Given the description of an element on the screen output the (x, y) to click on. 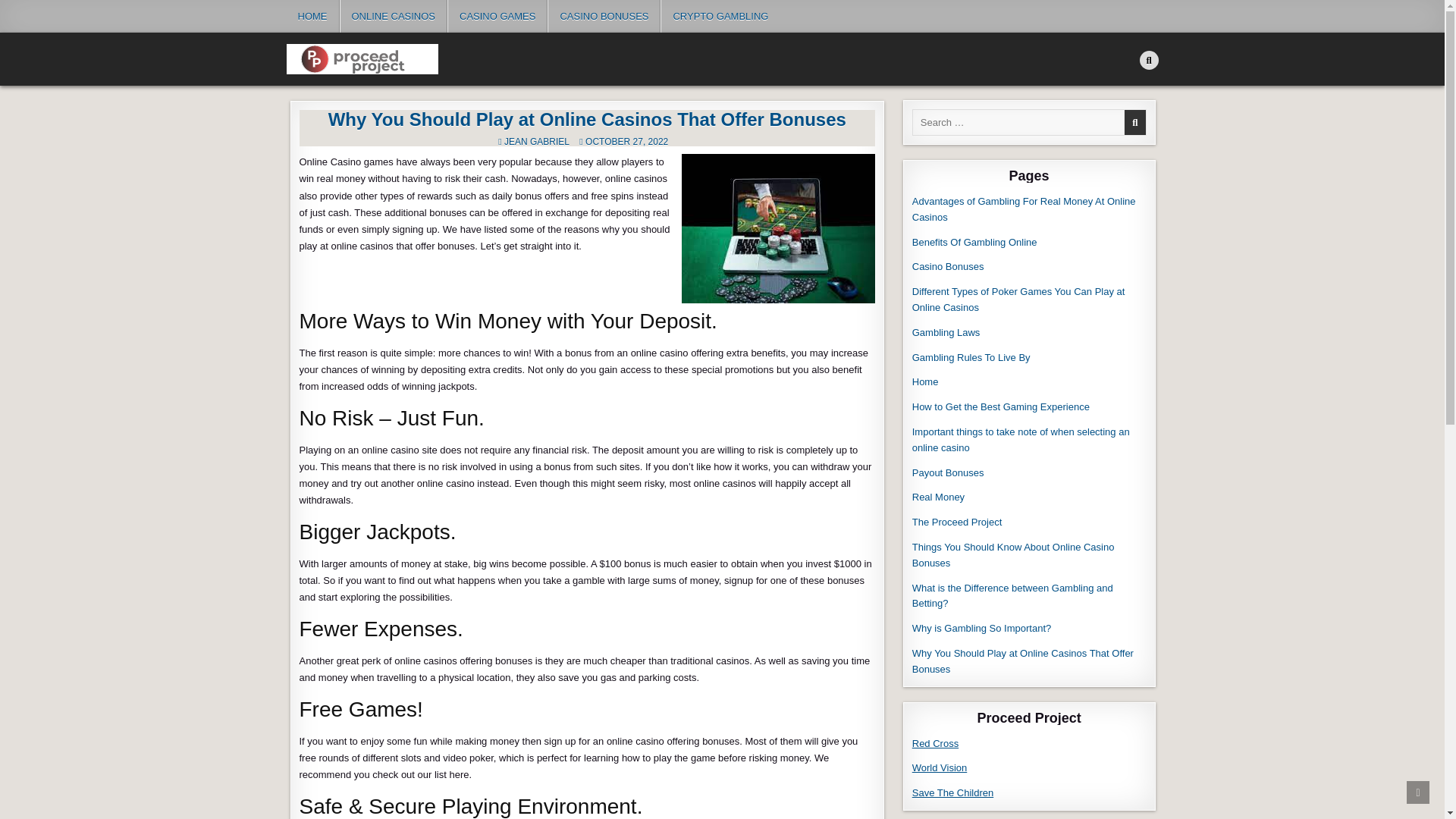
CASINO BONUSES (604, 16)
Real Money  (940, 496)
Advantages of Gambling For Real Money At Online Casinos (1023, 208)
Gambling Laws  (947, 332)
SCROLL TO TOP (1417, 792)
Red Cross (935, 743)
Save The Children (952, 792)
ONLINE CASINOS (393, 16)
Scroll to Top (1417, 792)
